Given the description of an element on the screen output the (x, y) to click on. 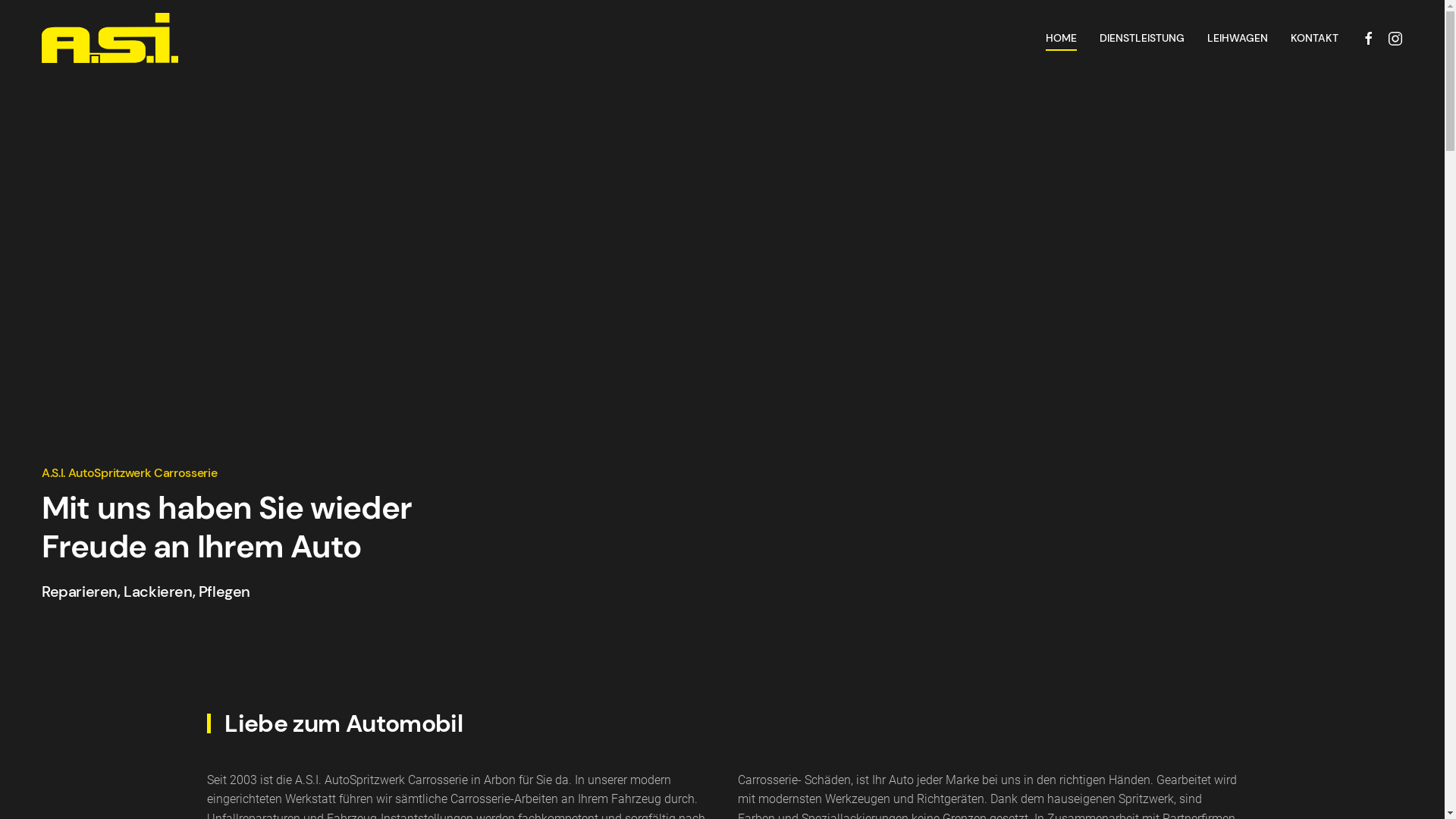
DIENSTLEISTUNG Element type: text (1141, 37)
KONTAKT Element type: text (1314, 37)
HOME Element type: text (1060, 37)
LEIHWAGEN Element type: text (1237, 37)
